Given the description of an element on the screen output the (x, y) to click on. 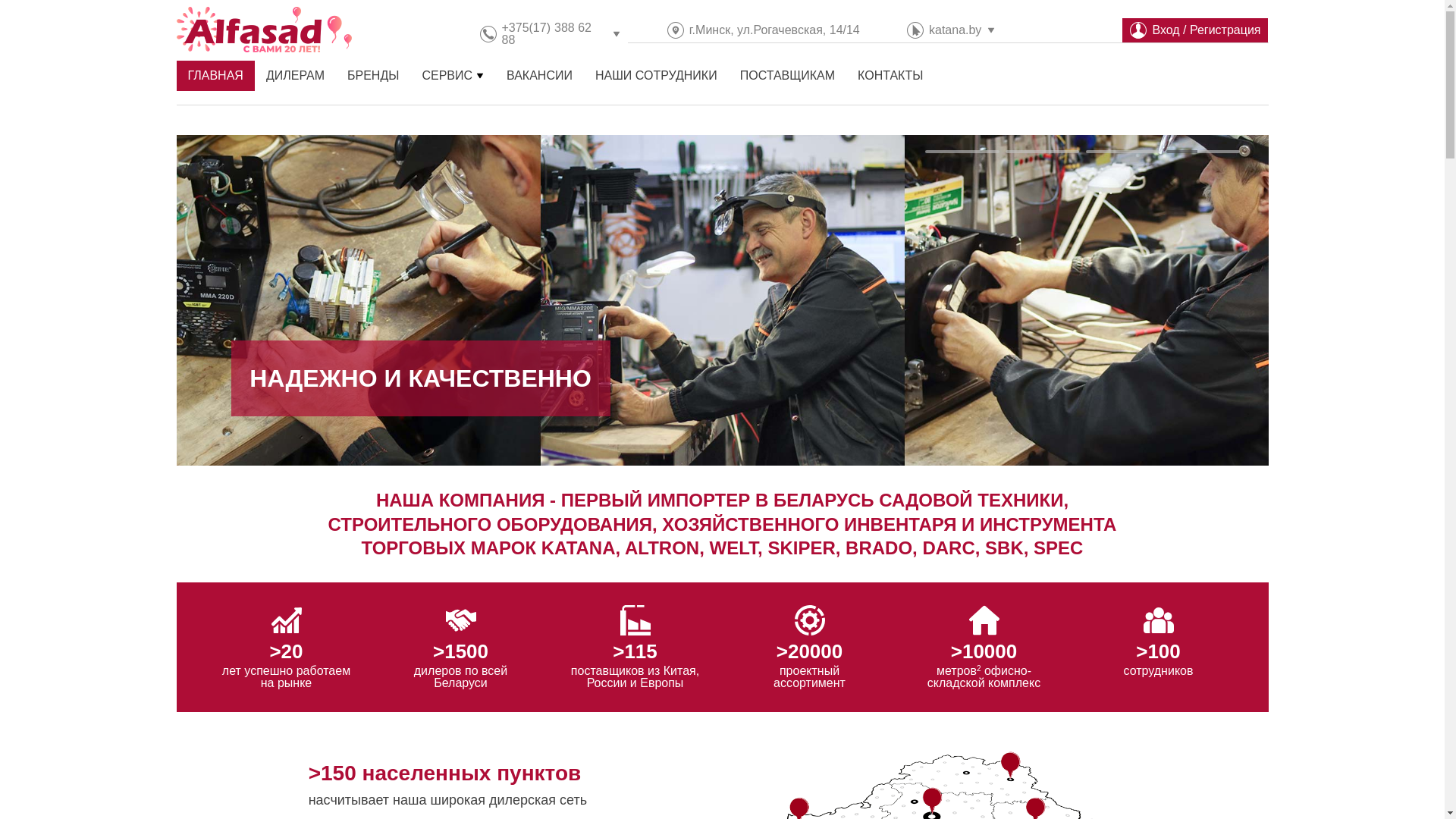
katana.by Element type: text (954, 30)
+375(17)388 62 88 Element type: text (554, 33)
